Given the description of an element on the screen output the (x, y) to click on. 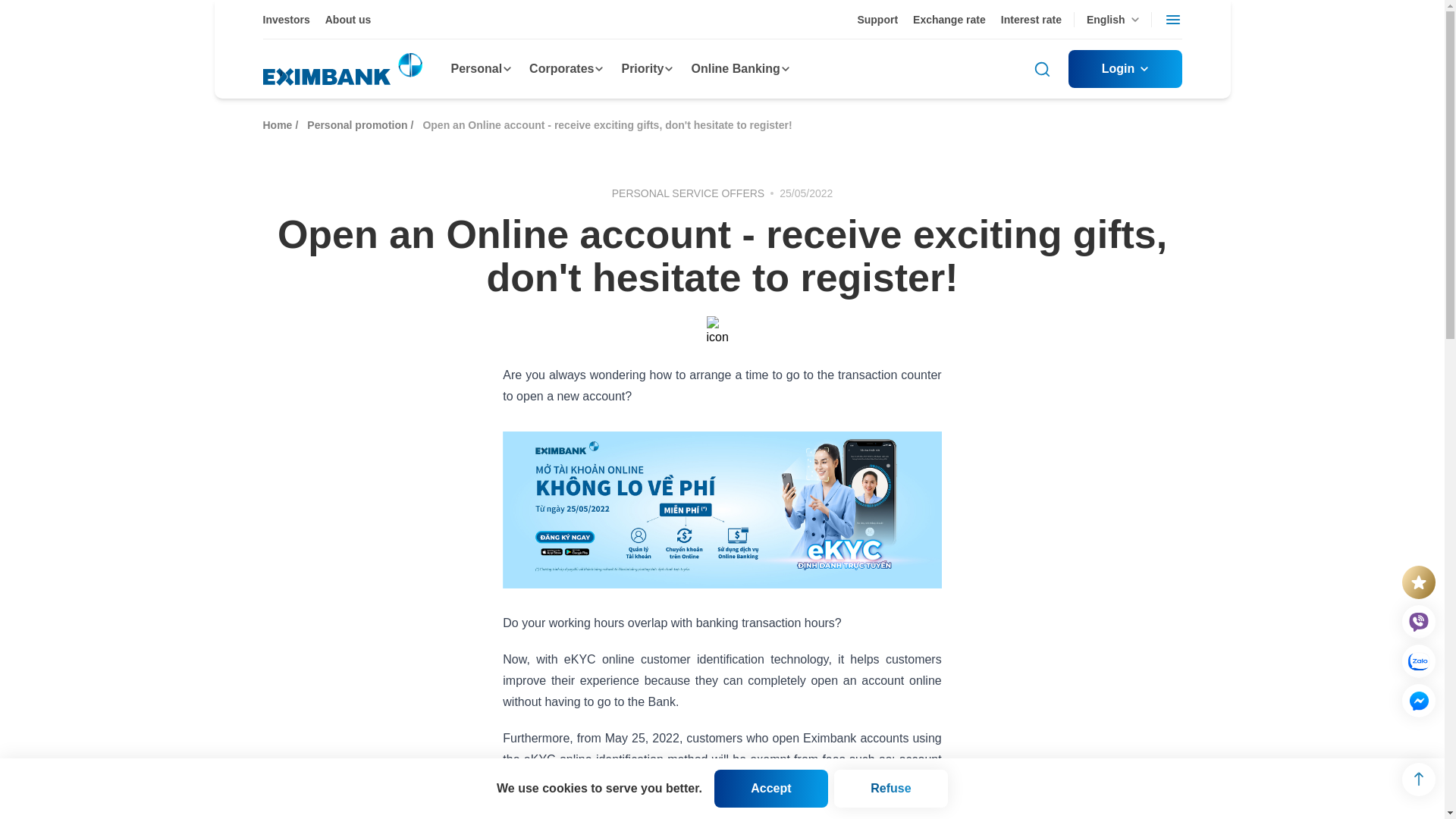
Investors (285, 19)
Support (877, 19)
Accept (771, 788)
Interest rate (1031, 19)
Personal promotion (357, 124)
Home (277, 124)
About us (347, 19)
Login (1123, 68)
Refuse (890, 788)
Exchange rate (948, 19)
